Given the description of an element on the screen output the (x, y) to click on. 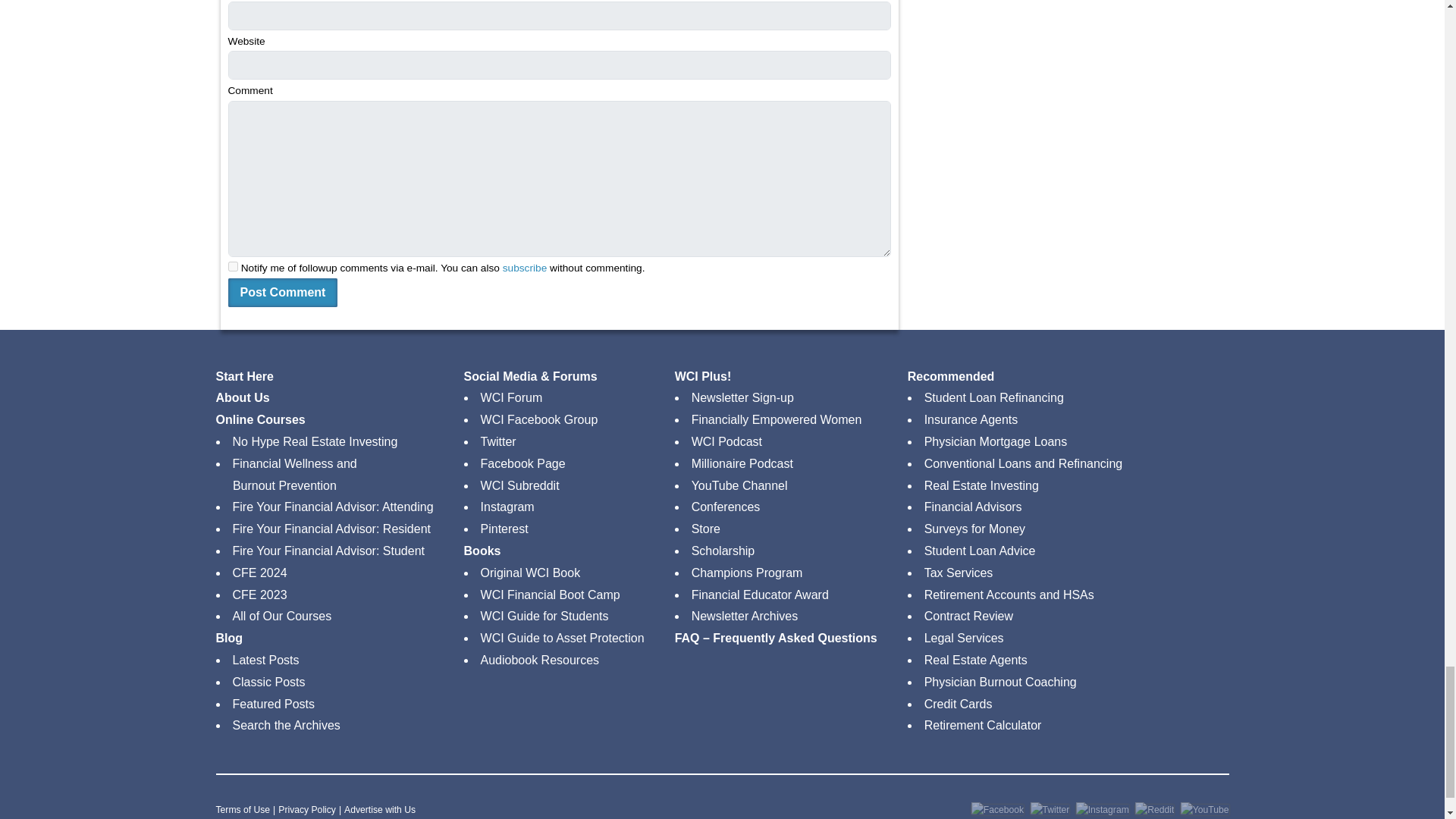
replies (232, 266)
Reddit (1154, 810)
YouTube (1204, 810)
Instagram (1102, 810)
Twitter (1050, 810)
Facebook (997, 810)
Post Comment (282, 292)
